Given the description of an element on the screen output the (x, y) to click on. 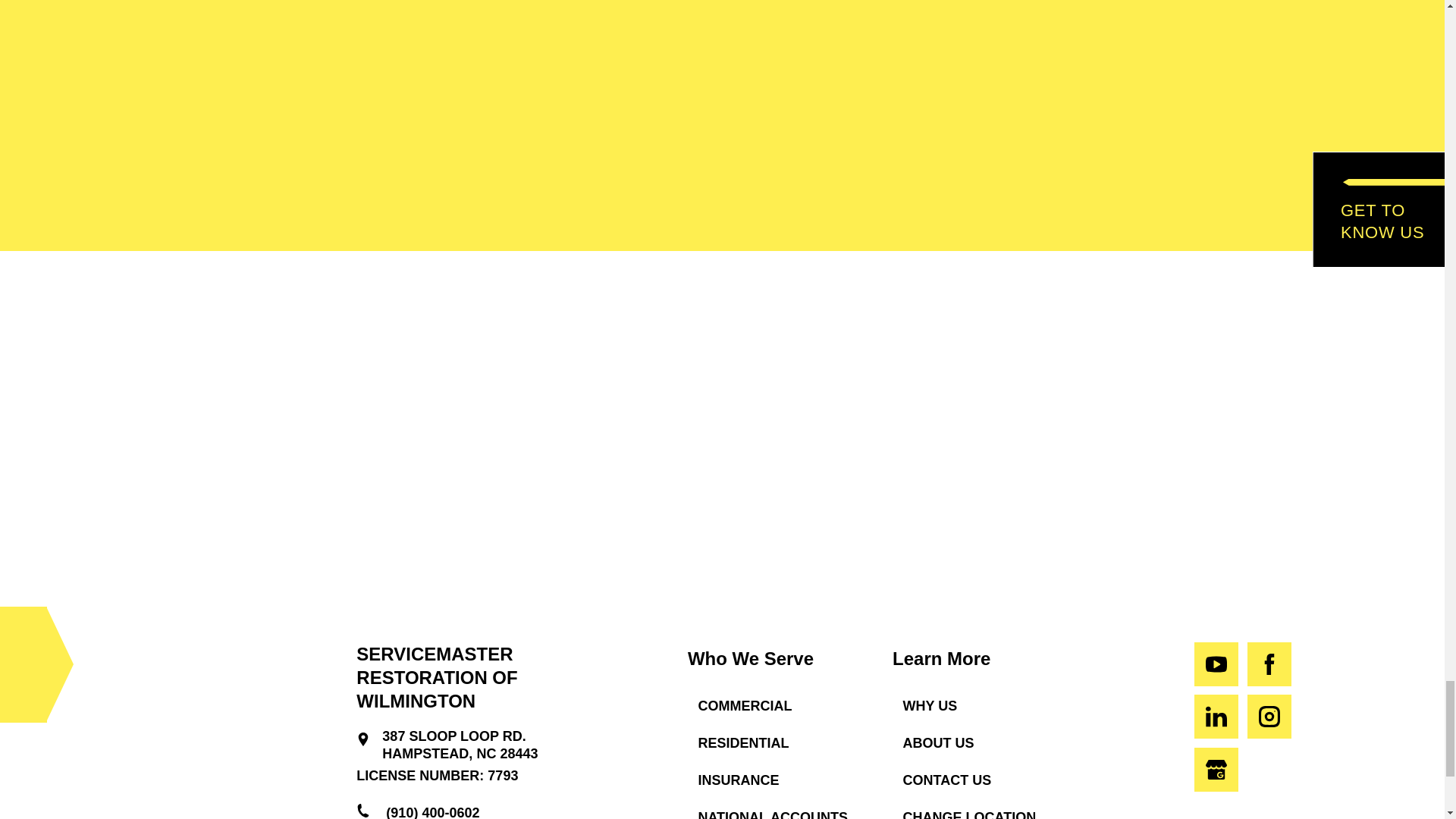
Google My Business (1216, 769)
Instagram (1269, 716)
Facebook (1269, 664)
Linkedin (1216, 716)
Youtube (1216, 664)
